Given the description of an element on the screen output the (x, y) to click on. 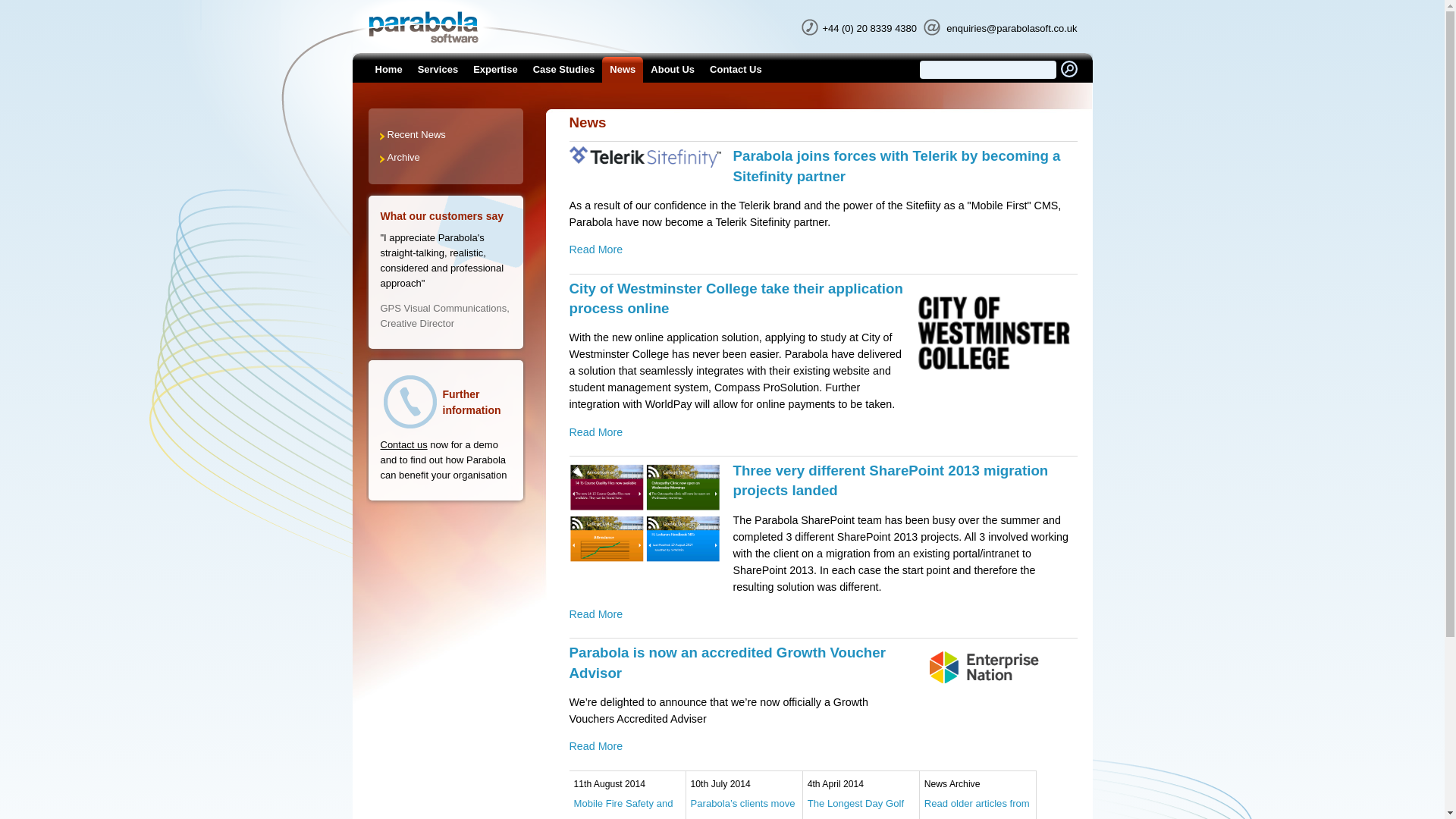
Contact Us (404, 444)
Services (437, 69)
Home (387, 69)
